Given the description of an element on the screen output the (x, y) to click on. 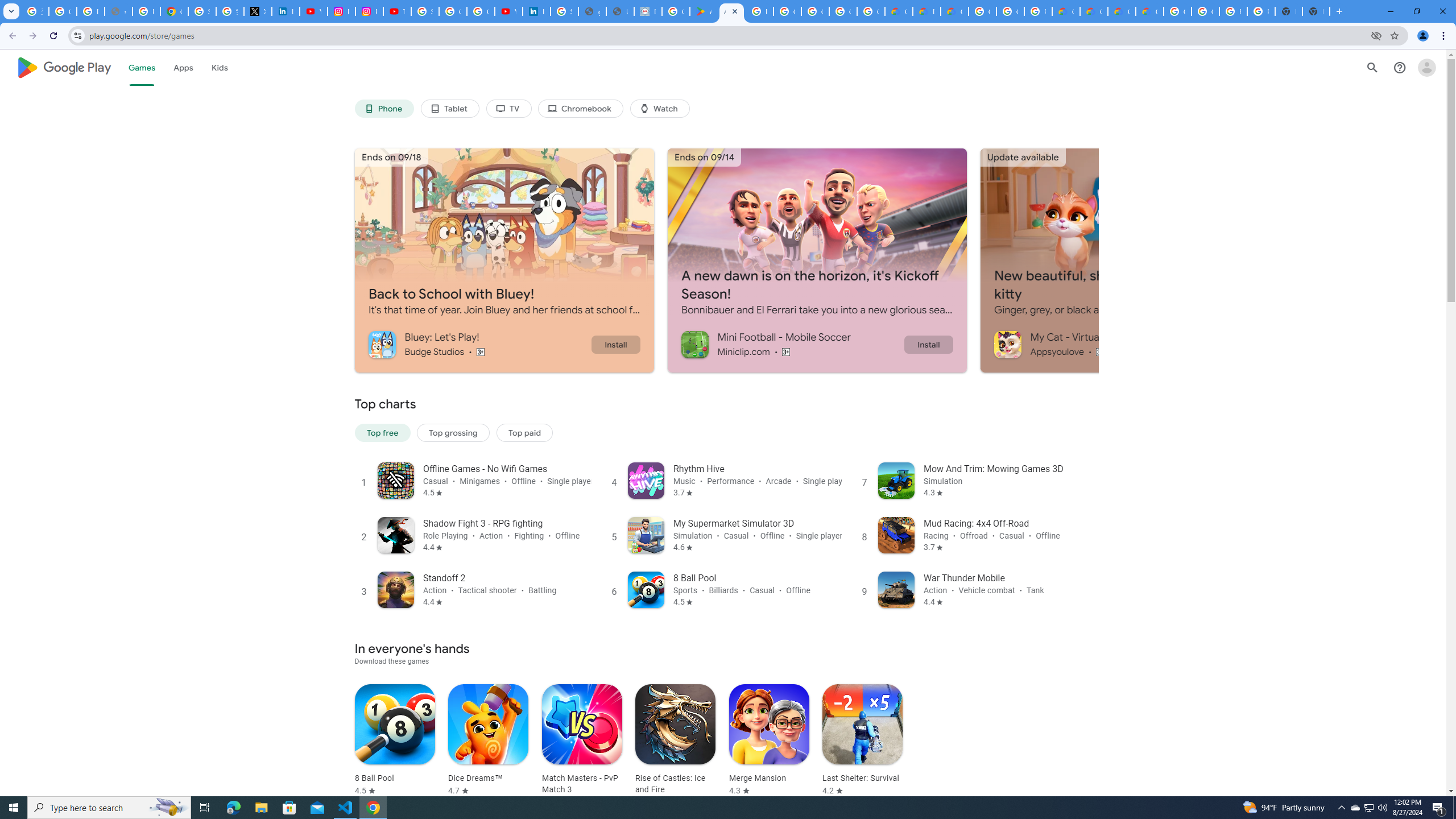
Android Apps on Google Play (731, 11)
User Details (620, 11)
Customer Care | Google Cloud (898, 11)
Games (141, 67)
Sign in - Google Accounts (425, 11)
Apps (182, 67)
Tablet (449, 108)
Gemini for Business and Developers | Google Cloud (955, 11)
